Given the description of an element on the screen output the (x, y) to click on. 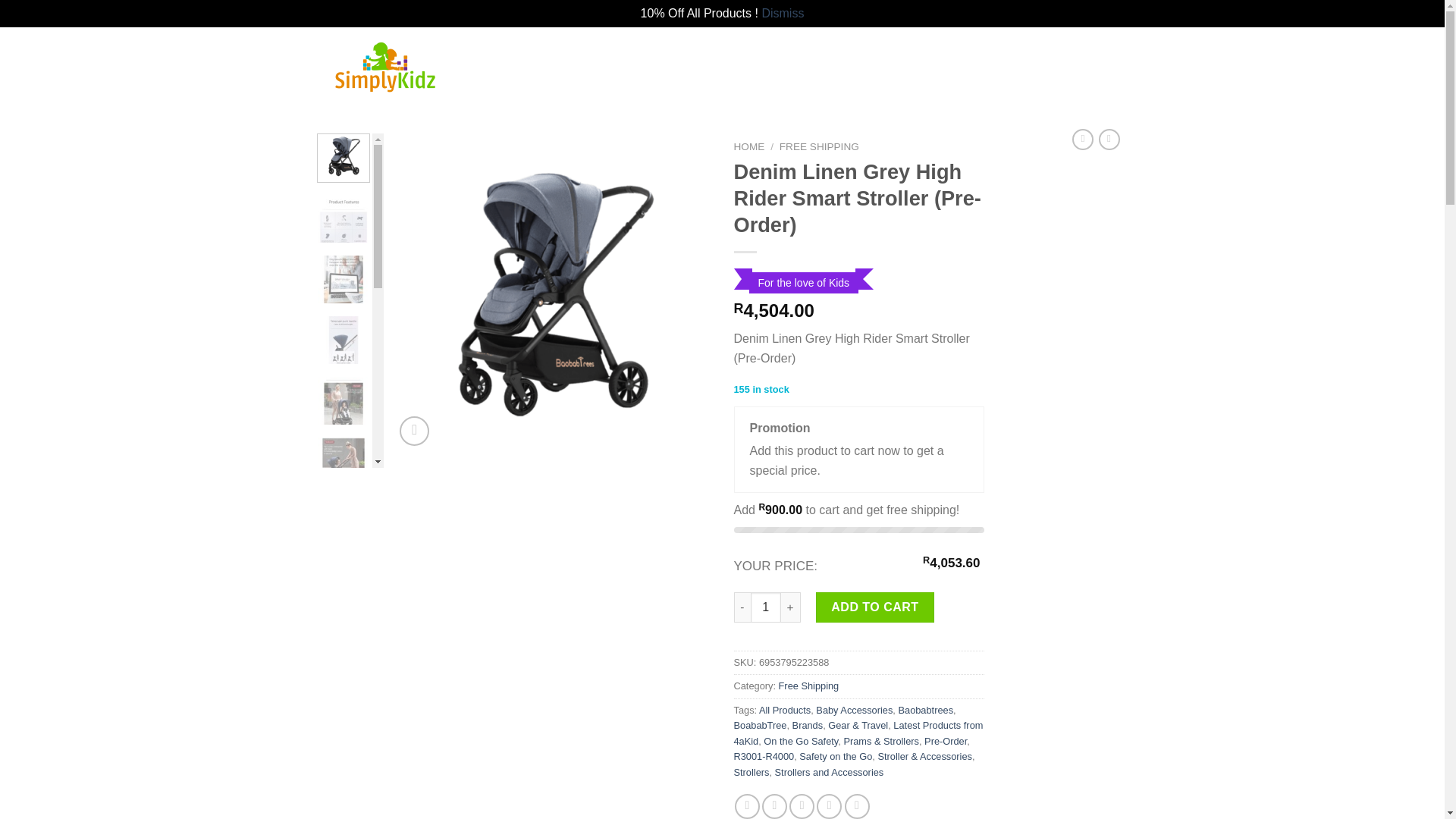
LOGIN (963, 54)
Cart (1060, 54)
HOME (630, 54)
Share on Twitter (774, 806)
Pin on Pinterest (828, 806)
FAQ (727, 54)
CONTACT (786, 54)
Share on Facebook (747, 806)
1 (765, 607)
- (742, 607)
Dismiss (782, 12)
Simply Kidz - Happiness For your little one (439, 65)
Zoom (413, 430)
